Given the description of an element on the screen output the (x, y) to click on. 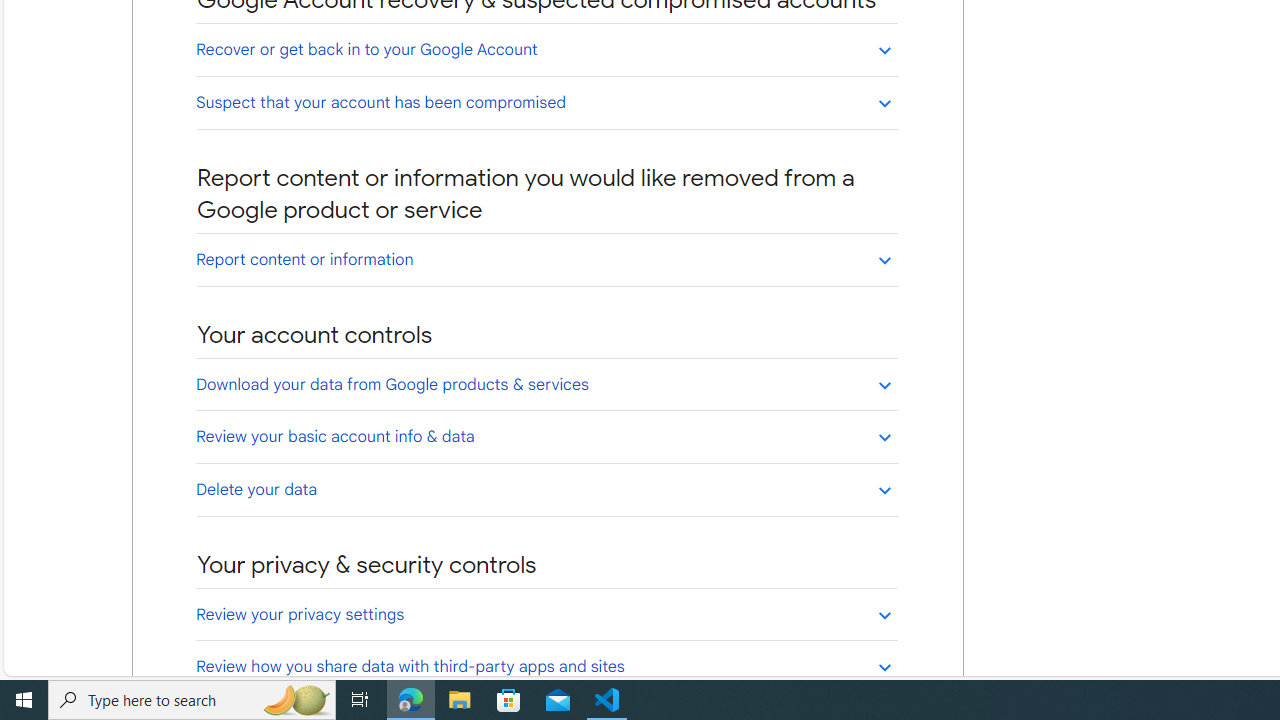
Download your data from Google products & services (546, 384)
Review your basic account info & data (546, 435)
Review how you share data with third-party apps and sites (546, 666)
Suspect that your account has been compromised (546, 102)
Review your privacy settings (546, 614)
Recover or get back in to your Google Account (546, 49)
Report content or information (546, 259)
Delete your data (546, 489)
